Given the description of an element on the screen output the (x, y) to click on. 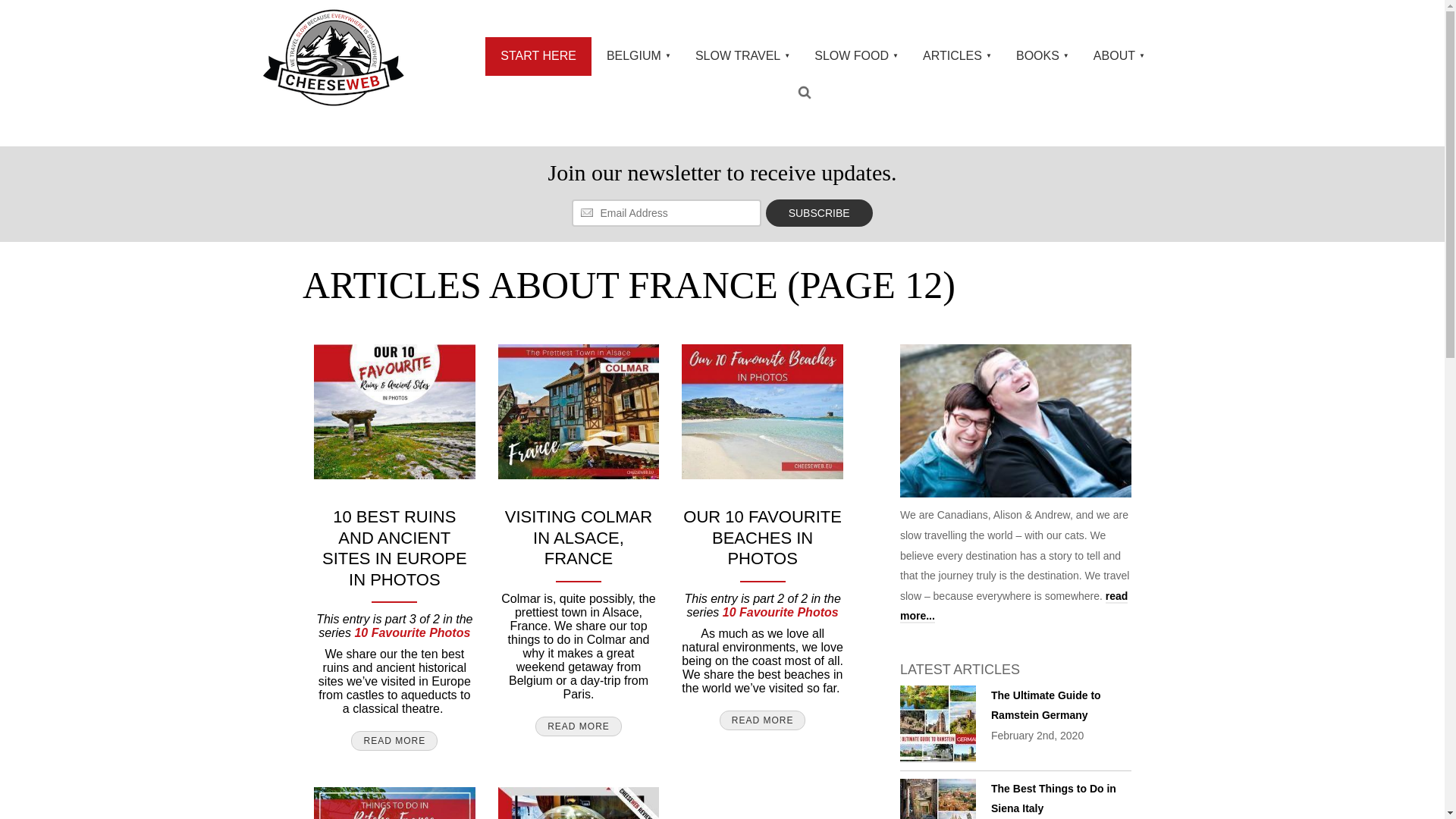
The Ultimate Guide to Ramstein Germany (937, 723)
10 Favourite Photos (780, 612)
START HERE (537, 56)
BELGIUM (635, 56)
The Best Things to Do in Siena Italy (937, 798)
CheeseWeb (333, 56)
SLOW TRAVEL (739, 56)
About (1015, 424)
The Ultimate Guide to Ramstein Germany (1045, 705)
The Best Things to Do in Siena Italy (1053, 798)
10 Favourite Photos (411, 632)
About (1012, 606)
Subscribe (818, 212)
